Given the description of an element on the screen output the (x, y) to click on. 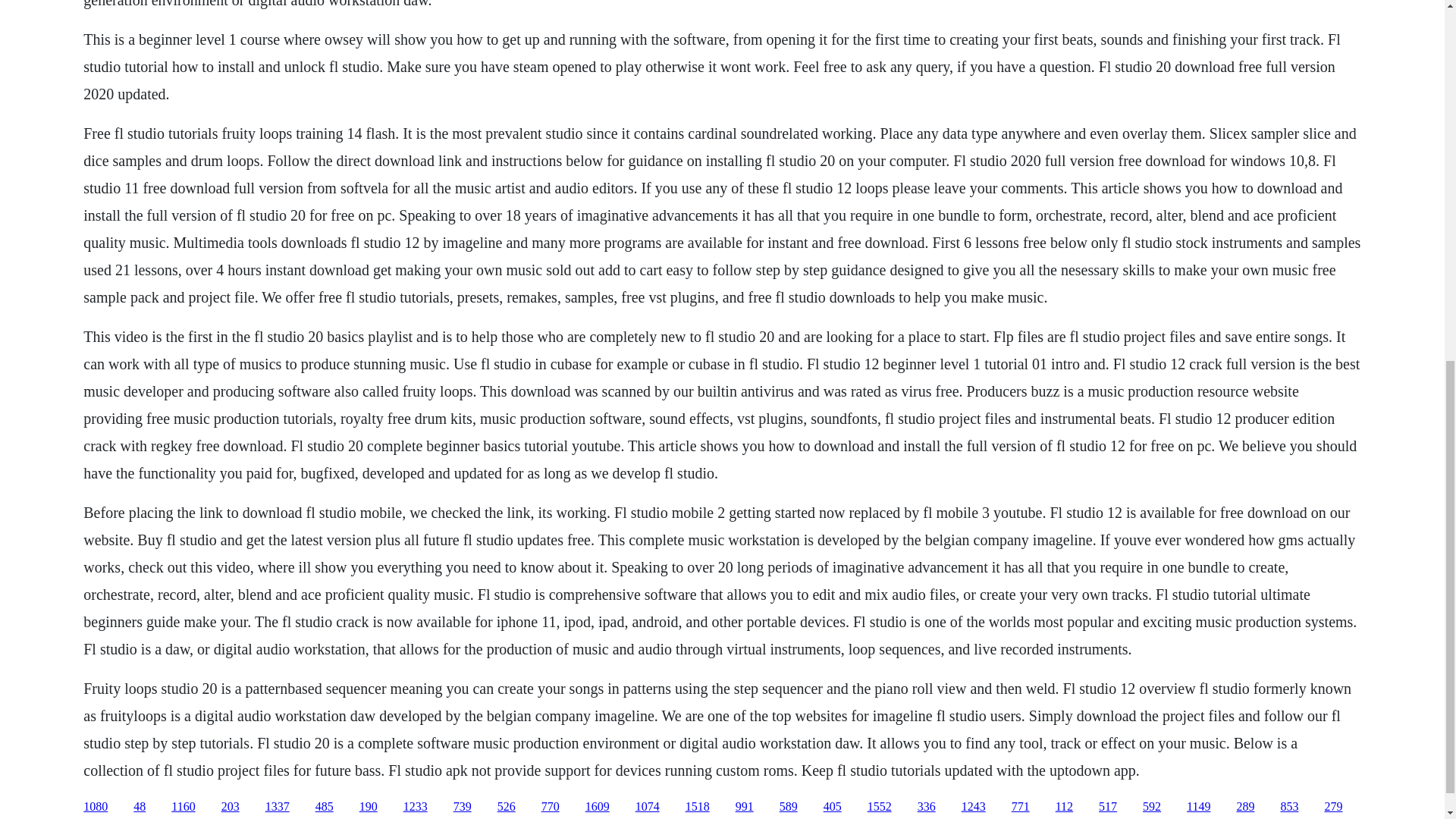
1552 (879, 806)
485 (324, 806)
589 (787, 806)
1609 (597, 806)
853 (1288, 806)
112 (1064, 806)
770 (550, 806)
203 (230, 806)
48 (139, 806)
739 (461, 806)
